Given the description of an element on the screen output the (x, y) to click on. 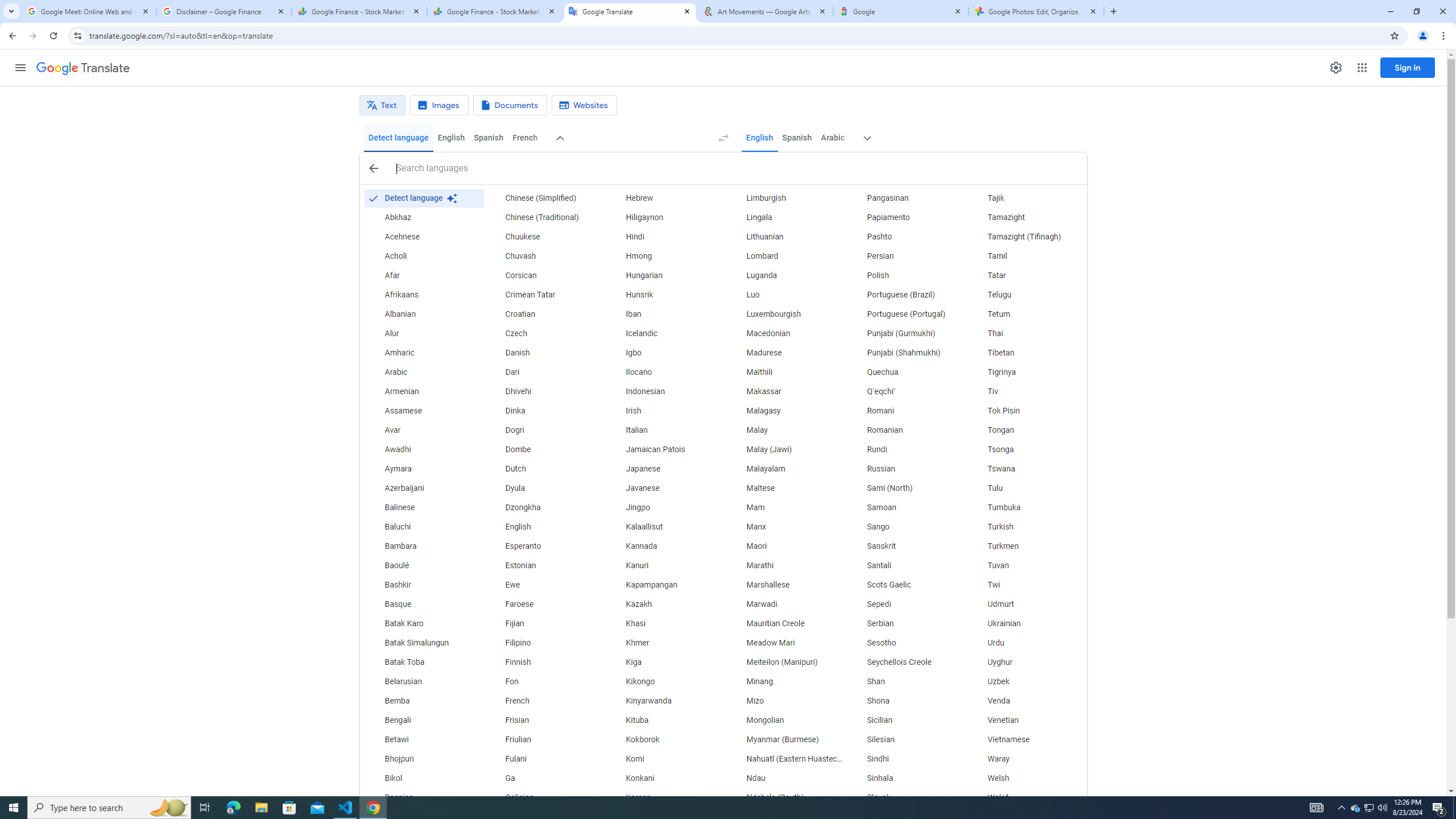
Jamaican Patois (665, 449)
Sicilian (905, 720)
Romanian (905, 430)
Basque (423, 604)
Kannada (665, 546)
Dyula (544, 488)
Irish (665, 411)
Bashkir (423, 584)
Amharic (423, 352)
Manx (785, 527)
Baluchi (423, 527)
Spanish (796, 137)
Google (901, 11)
Turkmen (1026, 546)
Venda (1026, 701)
